Given the description of an element on the screen output the (x, y) to click on. 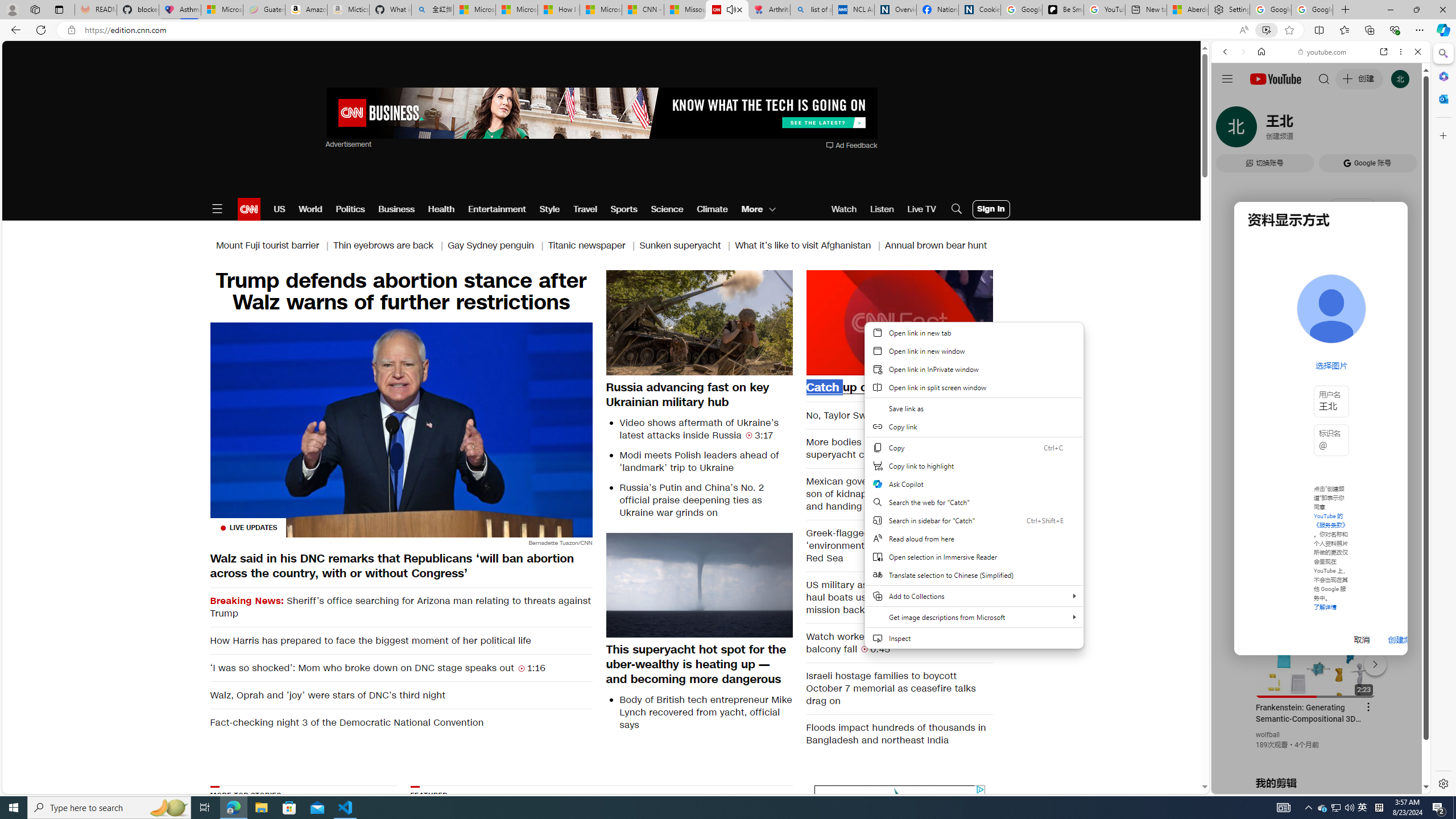
Forward 10 seconds (933, 322)
Search Filter, Search Tools (1350, 129)
youtube.com (1322, 51)
Travel (584, 209)
Pause (898, 321)
AutomationID: brandFlyLogo (899, 794)
